Given the description of an element on the screen output the (x, y) to click on. 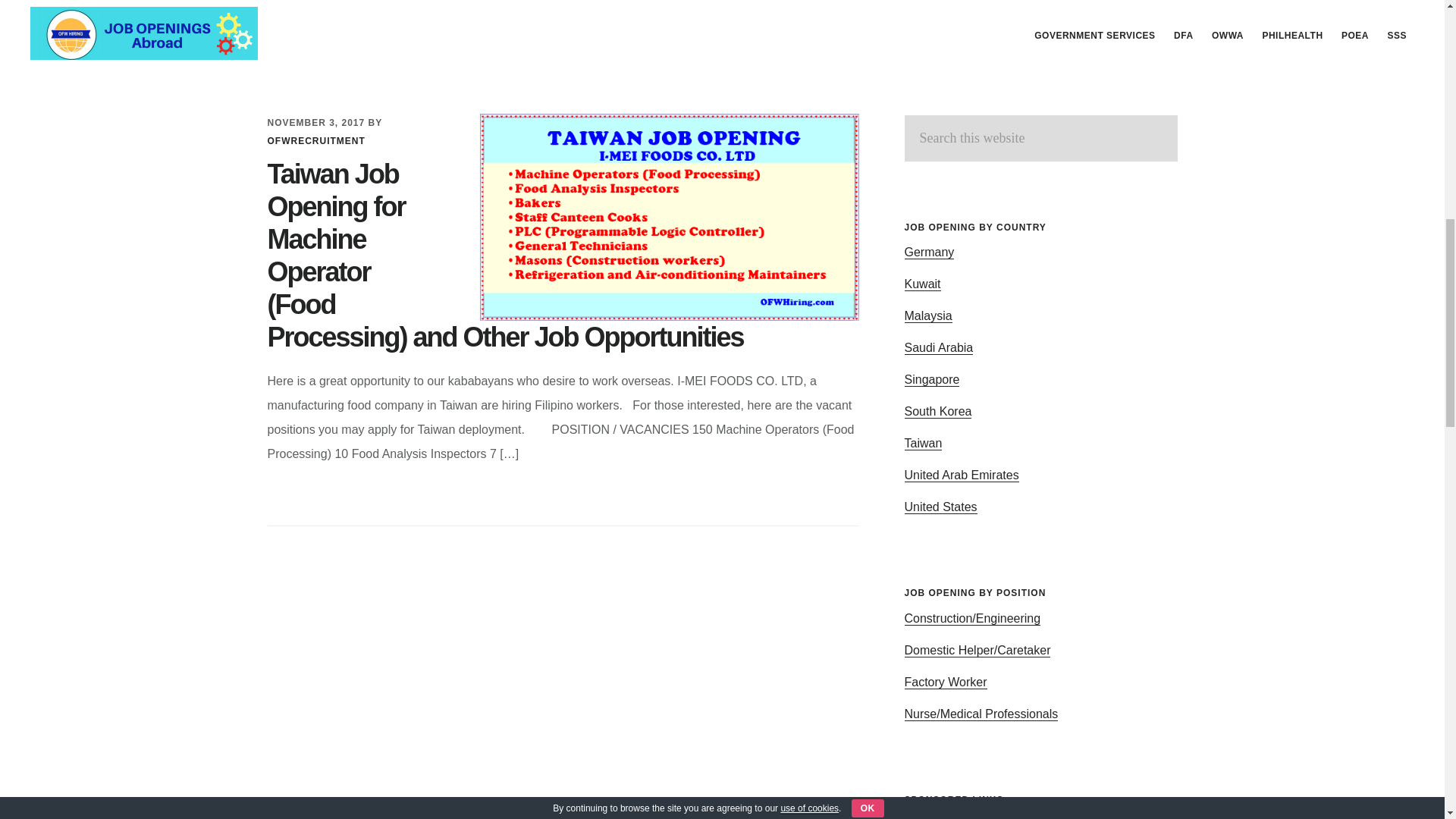
Advertisement (562, 41)
Saudi Arabia (938, 347)
Factory Worker (945, 682)
Germany (928, 252)
Singapore (931, 379)
Advertisement (1040, 22)
United Arab Emirates (960, 475)
Kuwait (922, 284)
United States (940, 507)
Malaysia (928, 315)
OFWRECRUITMENT (315, 140)
Taiwan (923, 443)
